Given the description of an element on the screen output the (x, y) to click on. 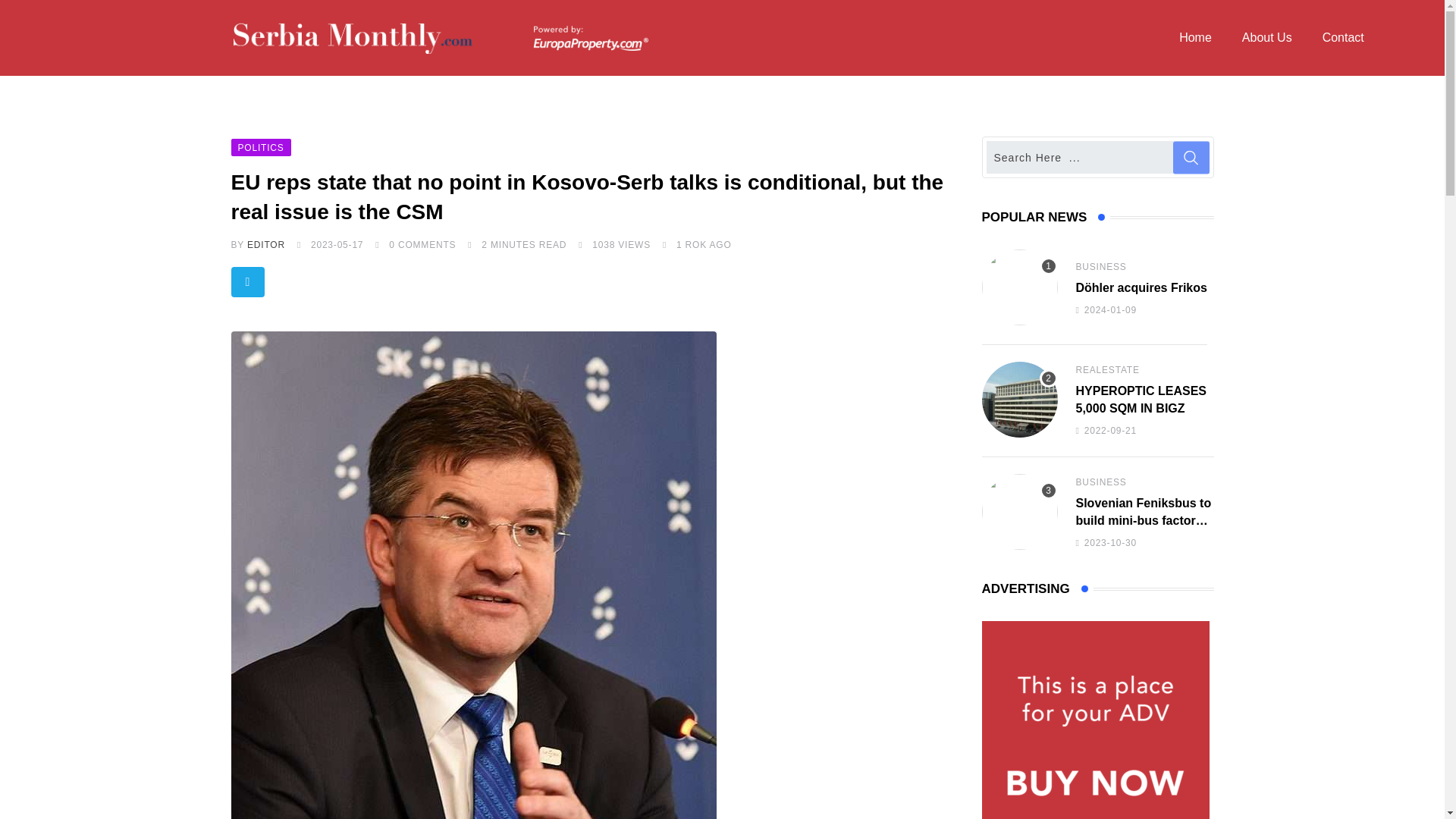
Home (1195, 37)
Contact (1342, 37)
HYPEROPTIC LEASES 5,000 SQM IN BIGZ (1019, 399)
Wpisy od Editor (266, 244)
EDITOR (266, 244)
POLITICS (259, 146)
About Us (1267, 37)
